Given the description of an element on the screen output the (x, y) to click on. 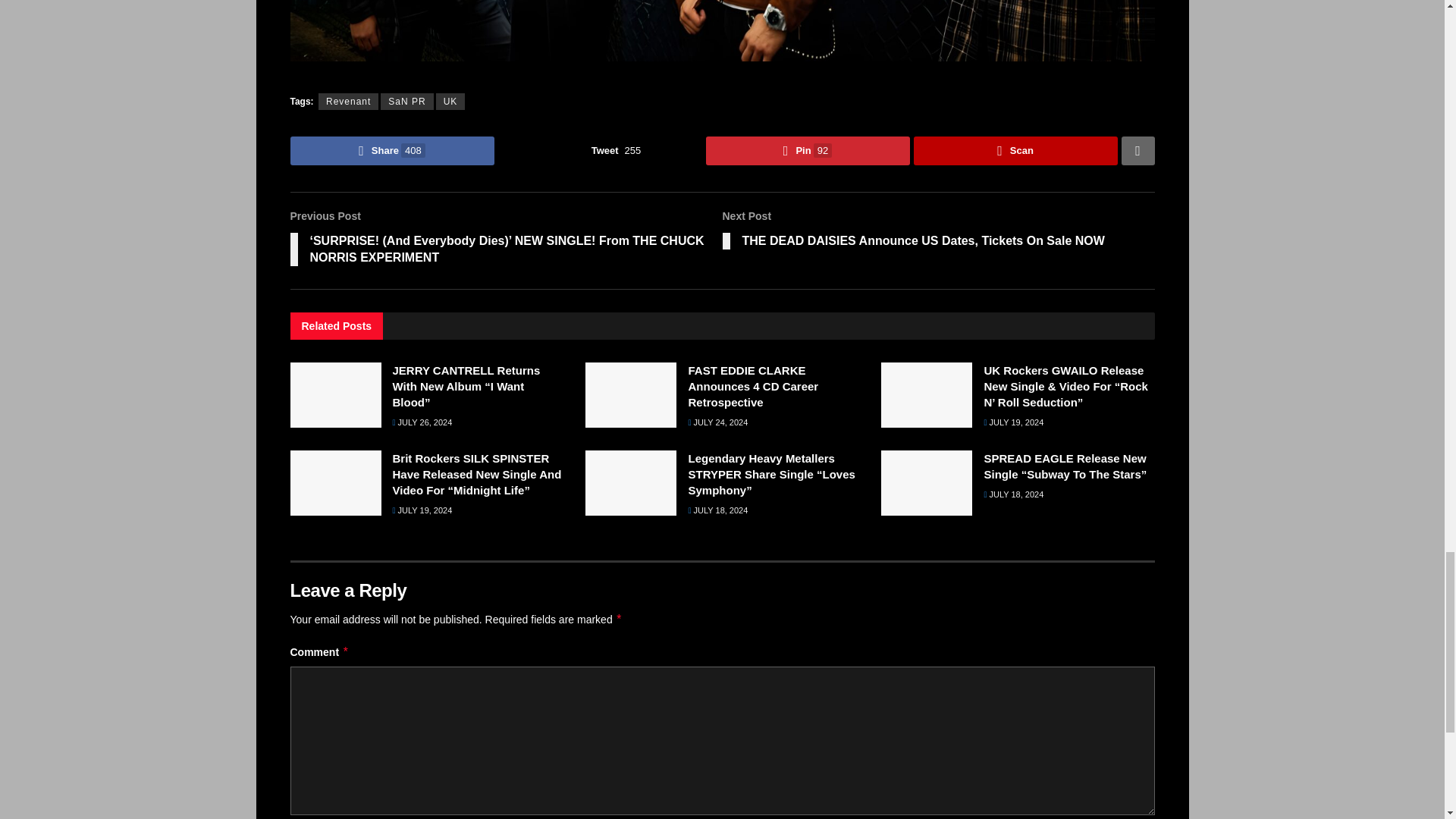
Revenant (348, 101)
SaN PR (406, 101)
Share408 (391, 150)
Tweet255 (599, 150)
UK (450, 101)
